Given the description of an element on the screen output the (x, y) to click on. 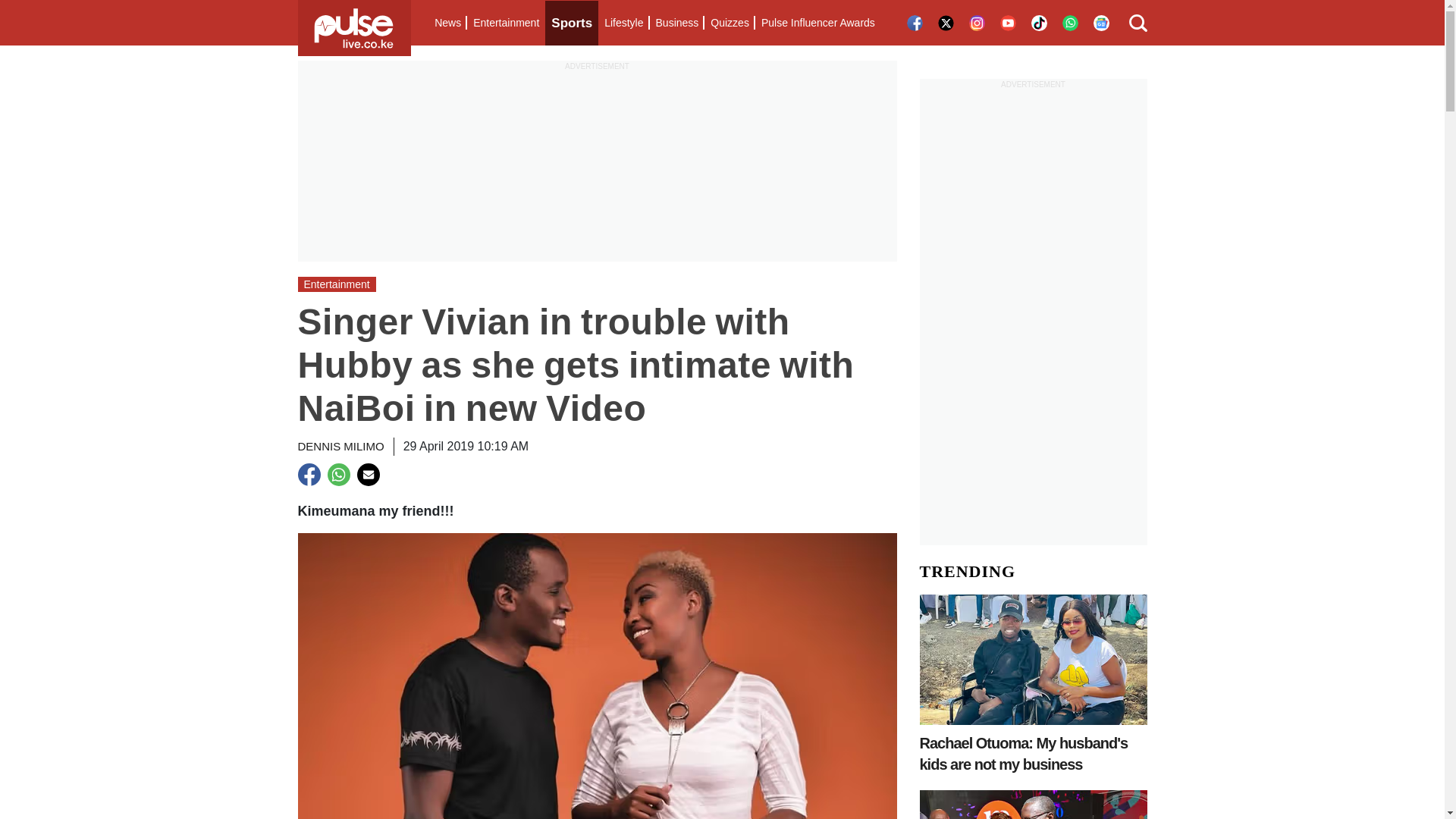
Pulse Influencer Awards (817, 22)
Entertainment (505, 22)
Quizzes (729, 22)
Sports (571, 22)
Business (676, 22)
Lifestyle (623, 22)
